Given the description of an element on the screen output the (x, y) to click on. 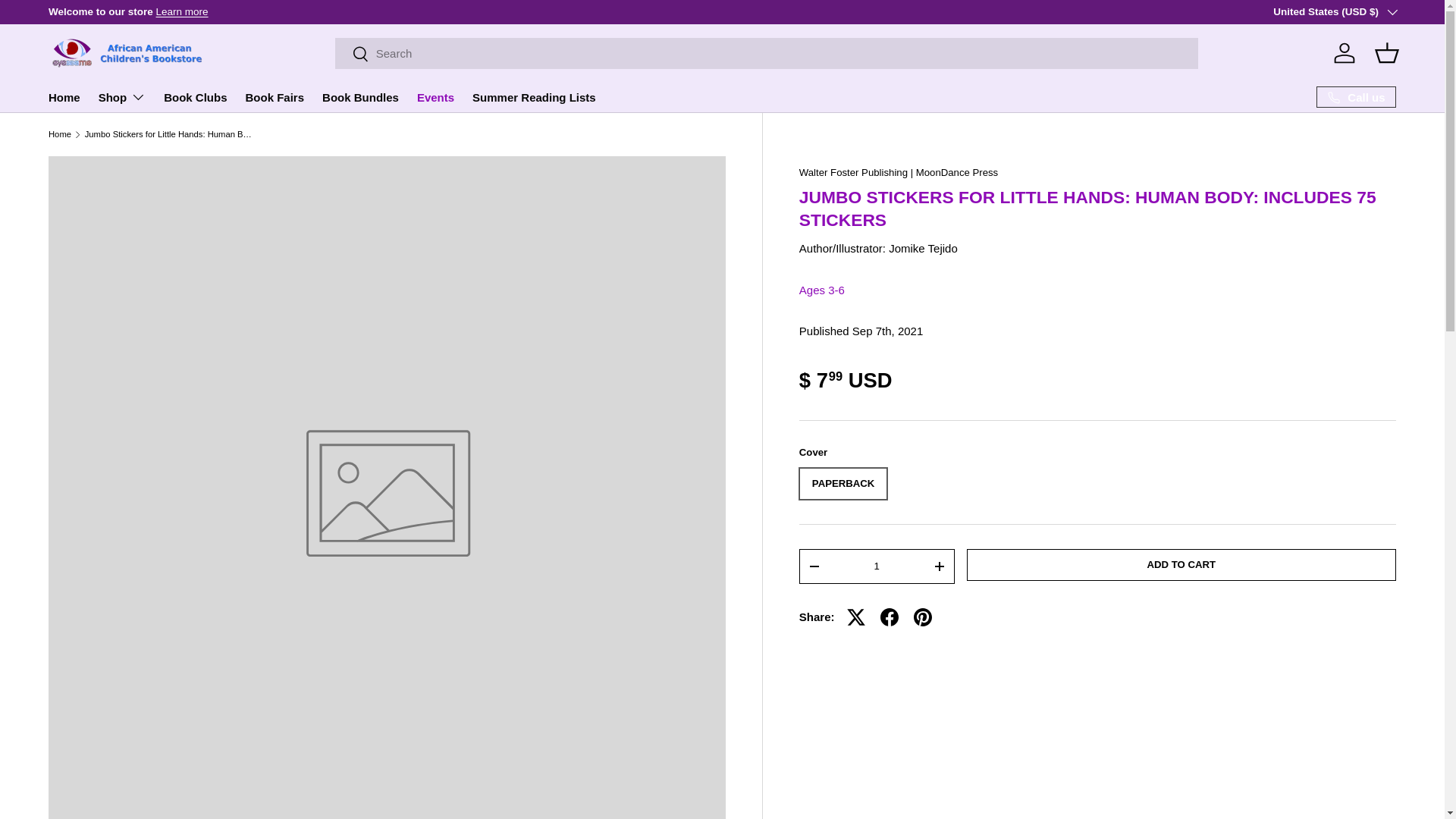
- (813, 566)
Book Bundles (359, 97)
Home (59, 134)
Log in (1344, 52)
Learn more (181, 11)
Learn more (1406, 11)
Search (351, 54)
Basket (1386, 52)
Call us (1356, 96)
